Given the description of an element on the screen output the (x, y) to click on. 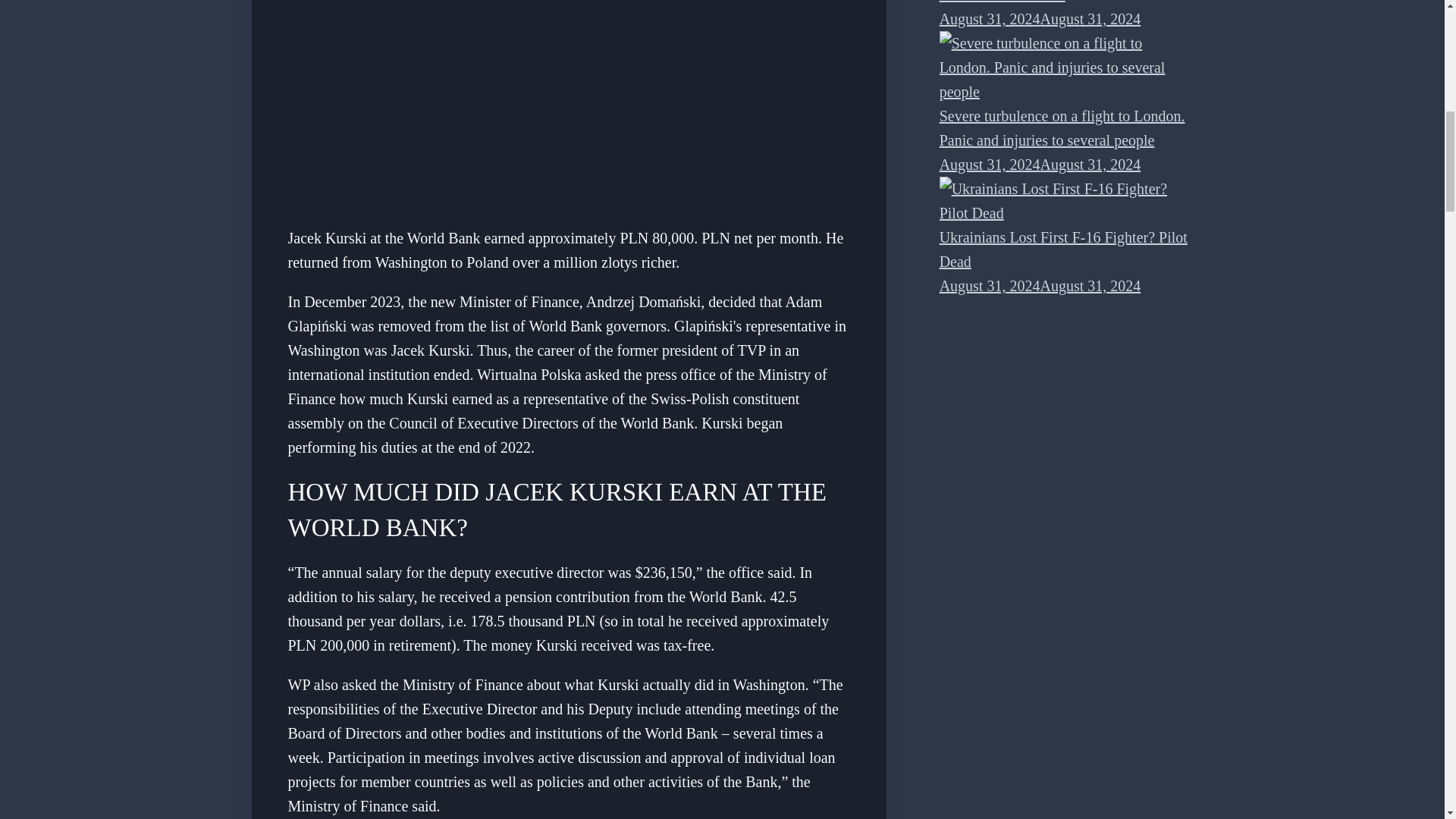
3:26 pm (1040, 18)
Champions League Available for Free? Great News for Fans (1057, 1)
Ukrainians Lost First F-16 Fighter? Pilot Dead (1066, 200)
2:26 pm (1040, 164)
August 31, 2024August 31, 2024 (1040, 164)
August 31, 2024August 31, 2024 (1040, 285)
August 31, 2024August 31, 2024 (1040, 18)
7:27 am (1040, 285)
Ukrainians Lost First F-16 Fighter? Pilot Dead (1063, 249)
